Given the description of an element on the screen output the (x, y) to click on. 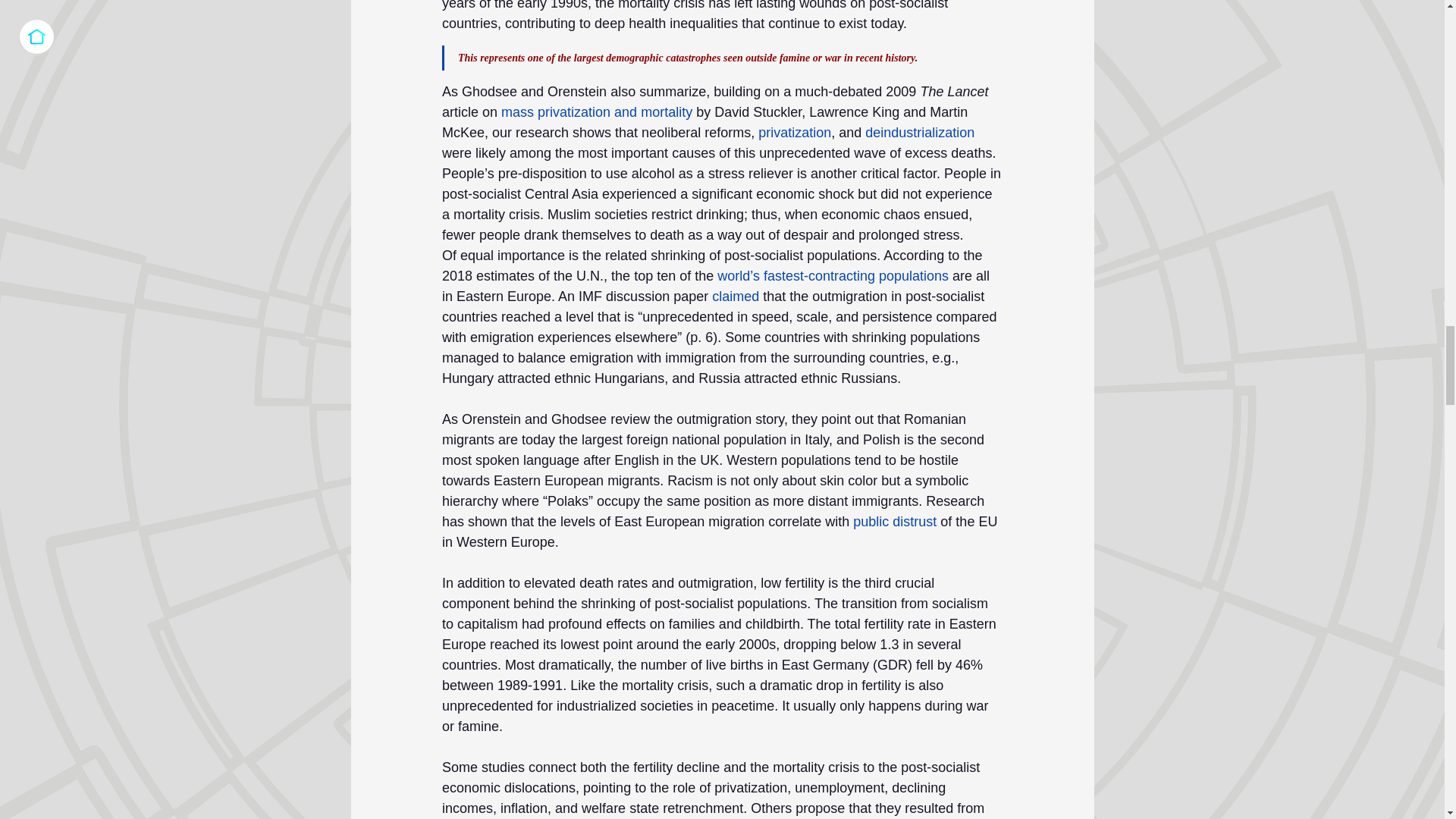
deindustrialization (919, 132)
privatization (794, 132)
mass privatization and mortality (596, 111)
claimed (734, 296)
public distrust (894, 521)
